Given the description of an element on the screen output the (x, y) to click on. 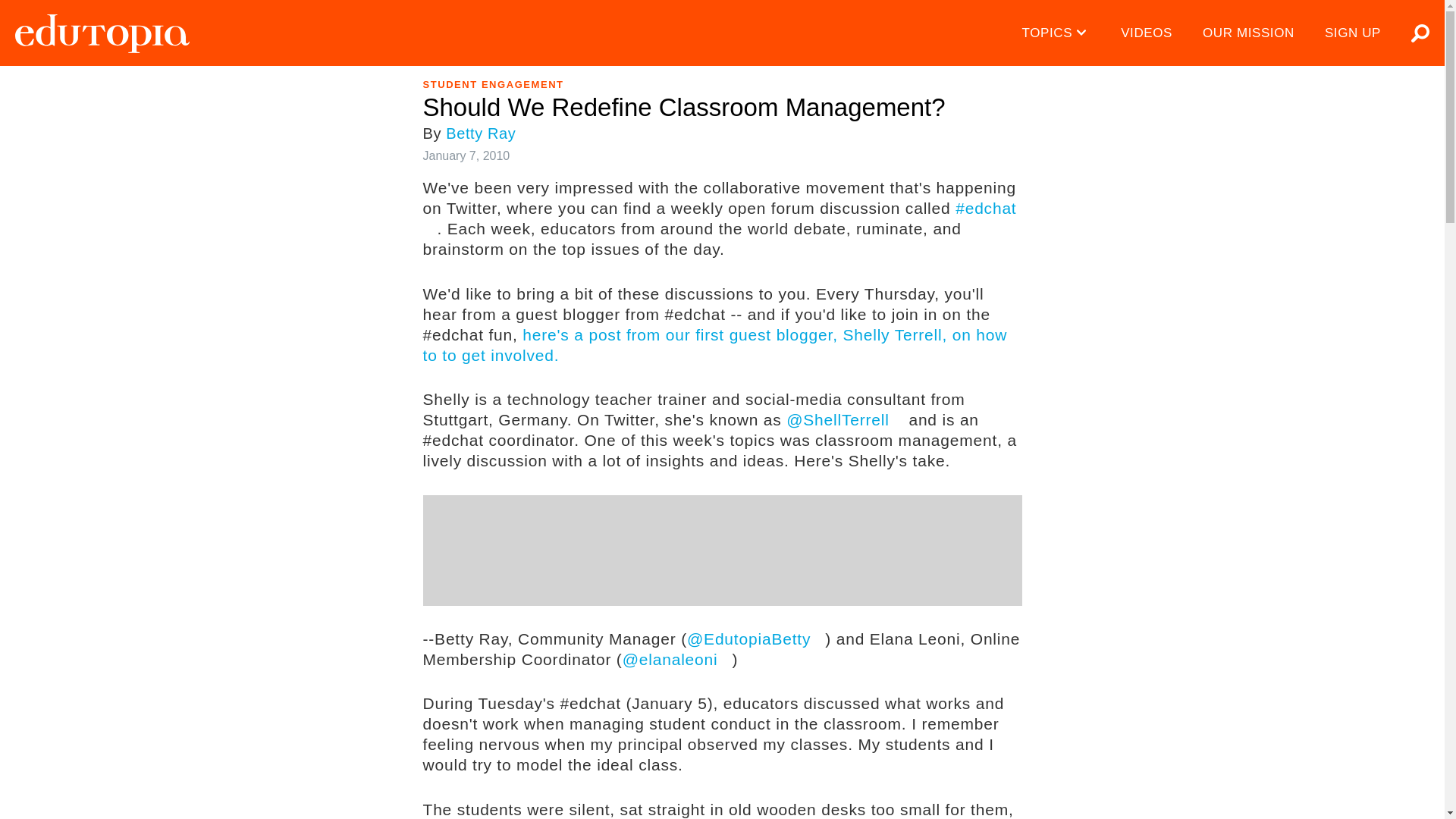
Betty Ray (480, 133)
SIGN UP (1352, 33)
OUR MISSION (1248, 33)
Edutopia (101, 33)
Edutopia (101, 33)
TOPICS (1056, 33)
VIDEOS (1146, 33)
